Given the description of an element on the screen output the (x, y) to click on. 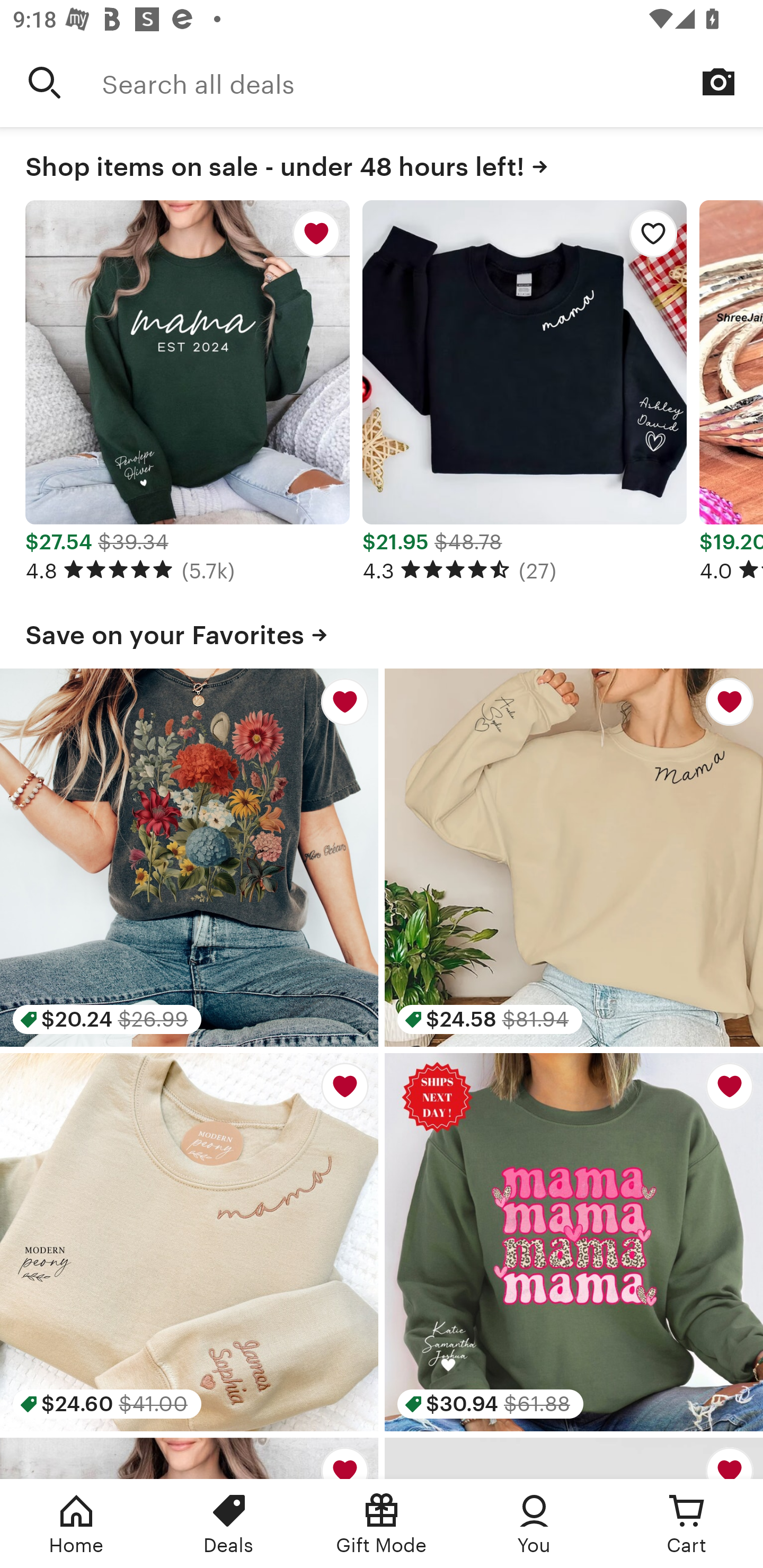
Search for anything on Etsy (44, 82)
Search by image (718, 81)
Search all deals (432, 82)
Shop items on sale - under 48 hours left! (381, 163)
Save on your Favorites (381, 631)
Home (76, 1523)
Gift Mode (381, 1523)
You (533, 1523)
Cart (686, 1523)
